Given the description of an element on the screen output the (x, y) to click on. 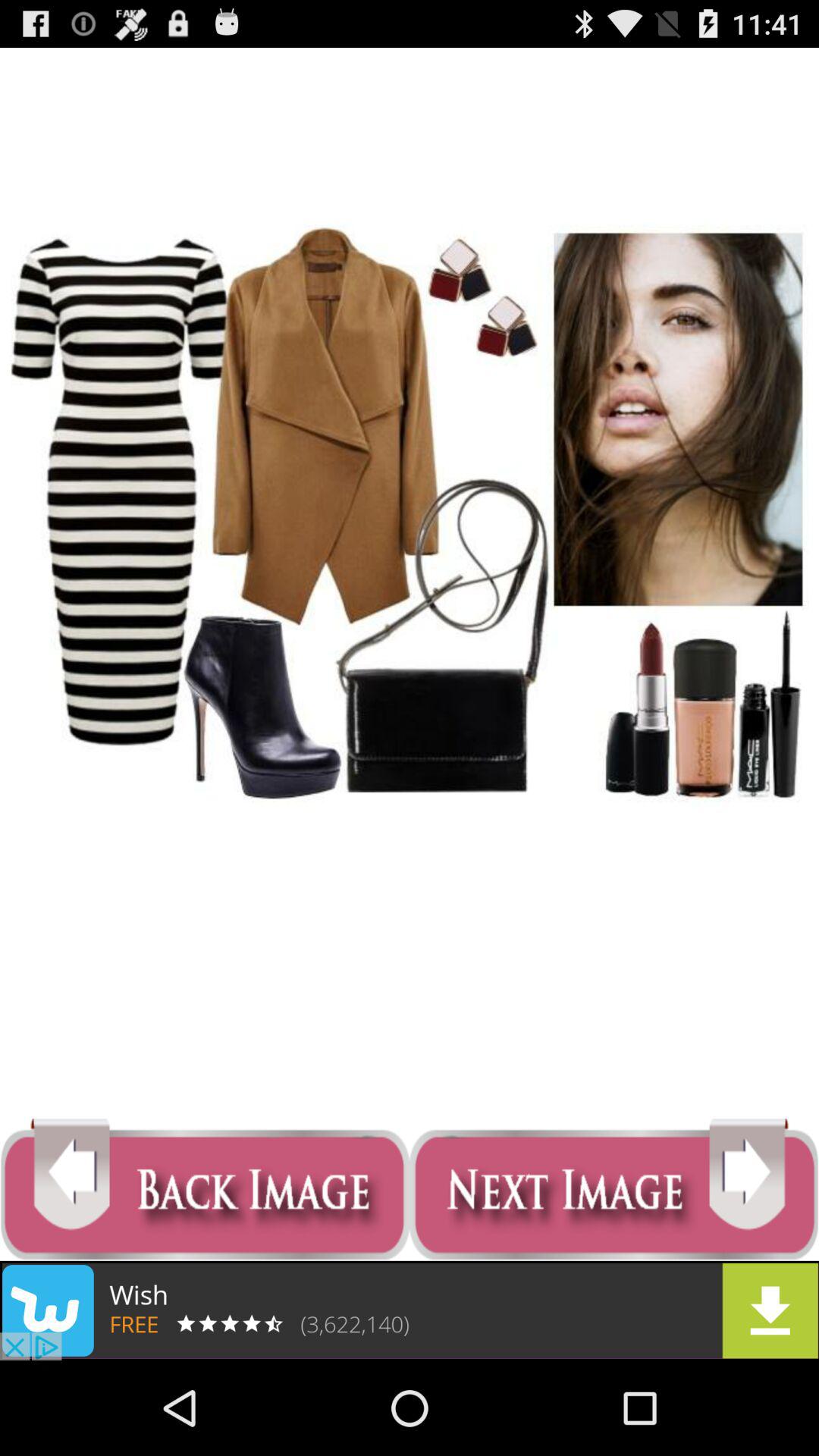
go to previous image (204, 1189)
